Given the description of an element on the screen output the (x, y) to click on. 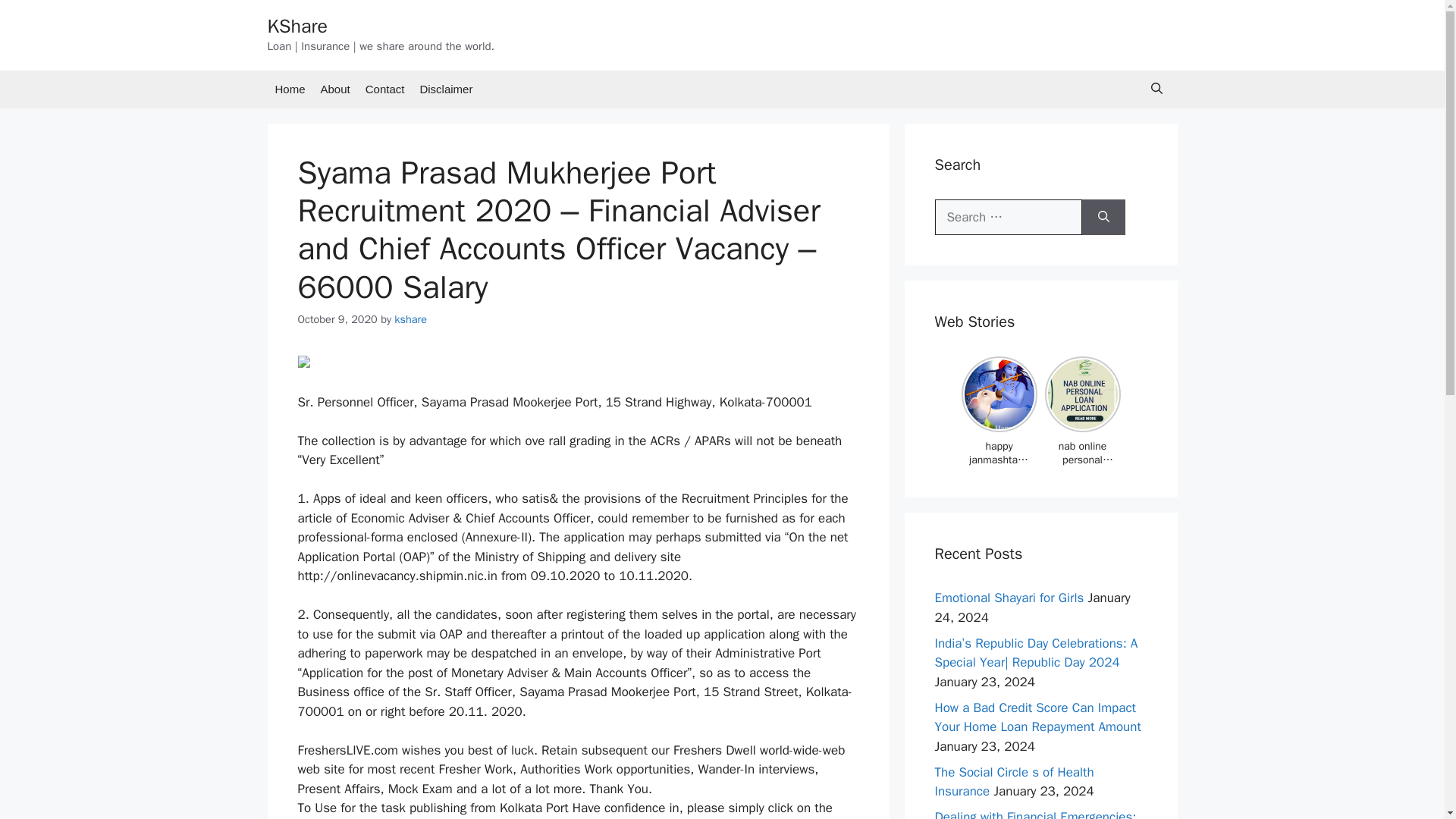
View all posts by kshare (410, 318)
Disclaimer (446, 88)
Home (289, 88)
Search for: (1007, 217)
Contact (385, 88)
The Social Circle s of Health Insurance (1013, 782)
Emotional Shayari for Girls (1008, 597)
About (335, 88)
KShare (296, 25)
kshare (410, 318)
